Given the description of an element on the screen output the (x, y) to click on. 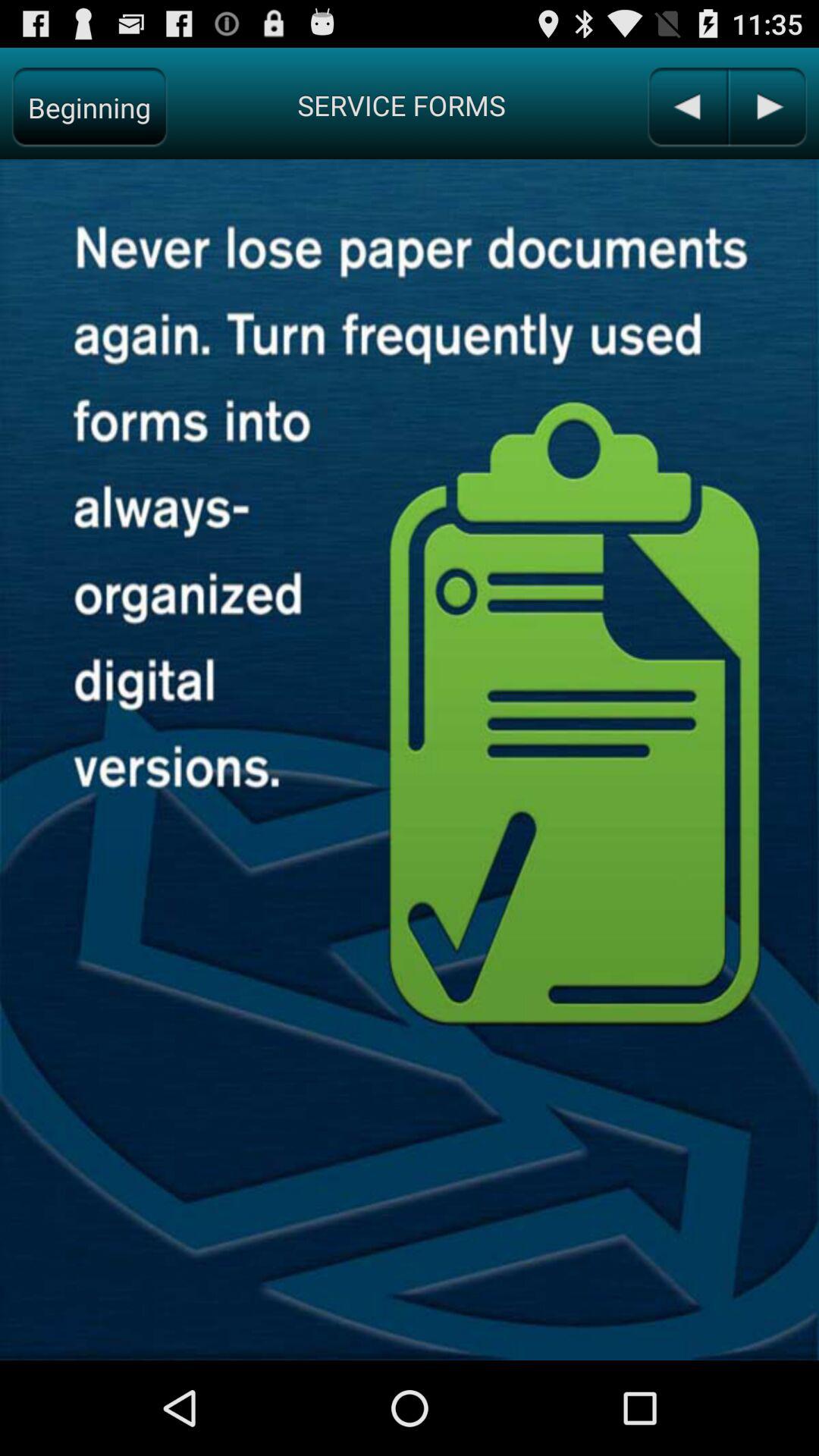
go to previous (687, 107)
